Given the description of an element on the screen output the (x, y) to click on. 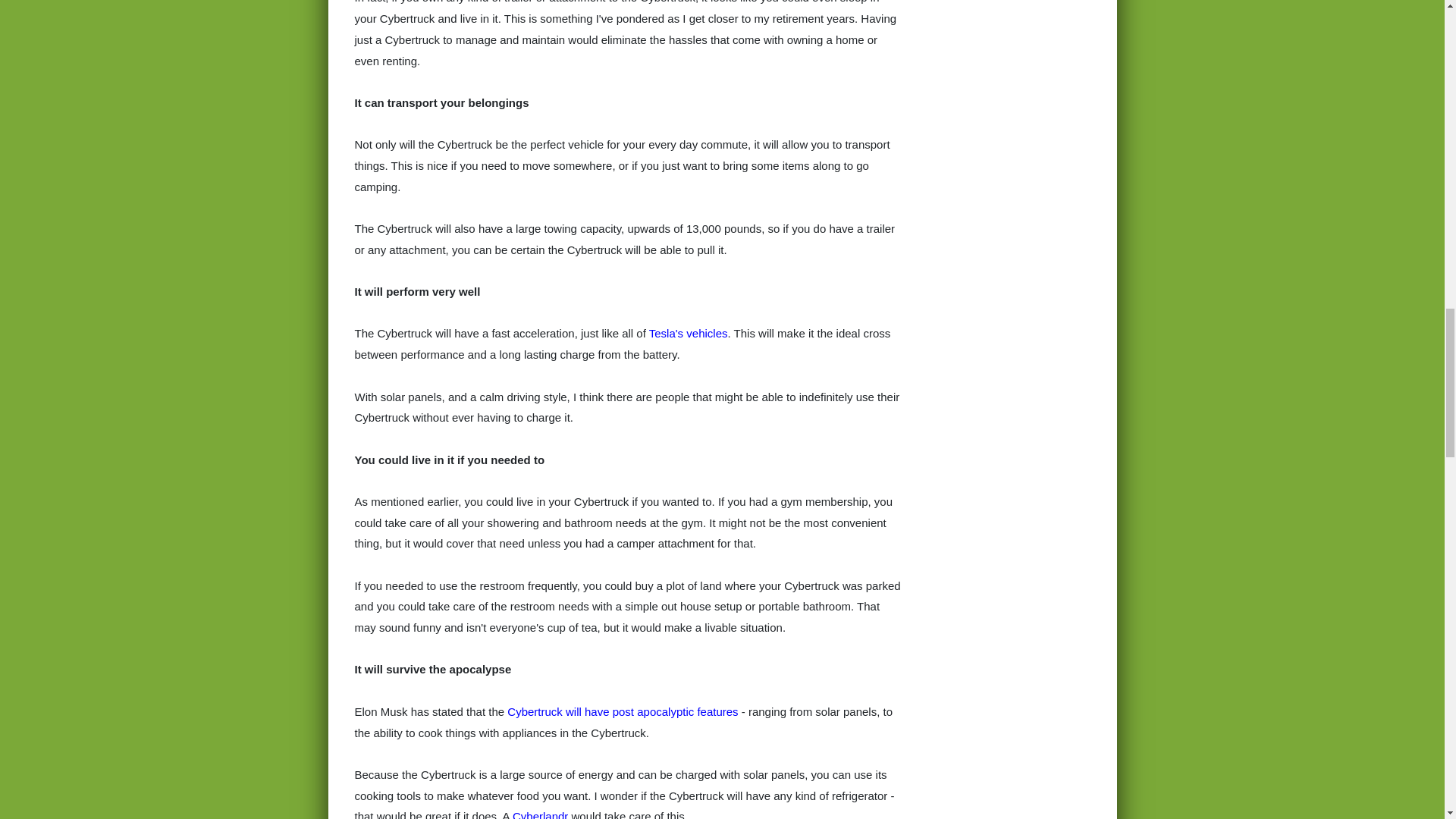
Cybertruck will have post apocalyptic features (622, 711)
Tesla's vehicles (688, 332)
Cyberlandr (539, 814)
